Given the description of an element on the screen output the (x, y) to click on. 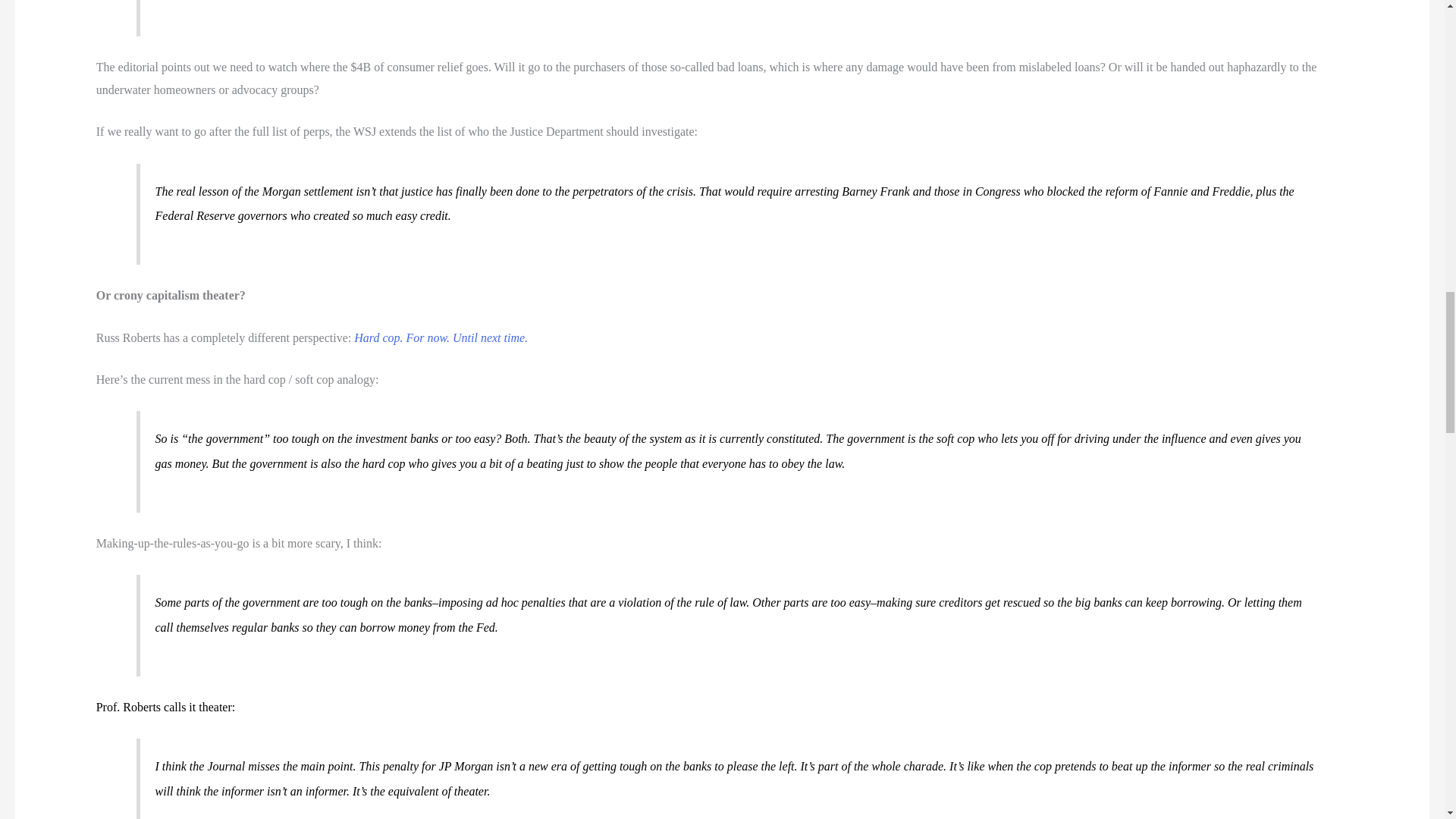
Hard cop. For now. Until next time. (440, 337)
